Given the description of an element on the screen output the (x, y) to click on. 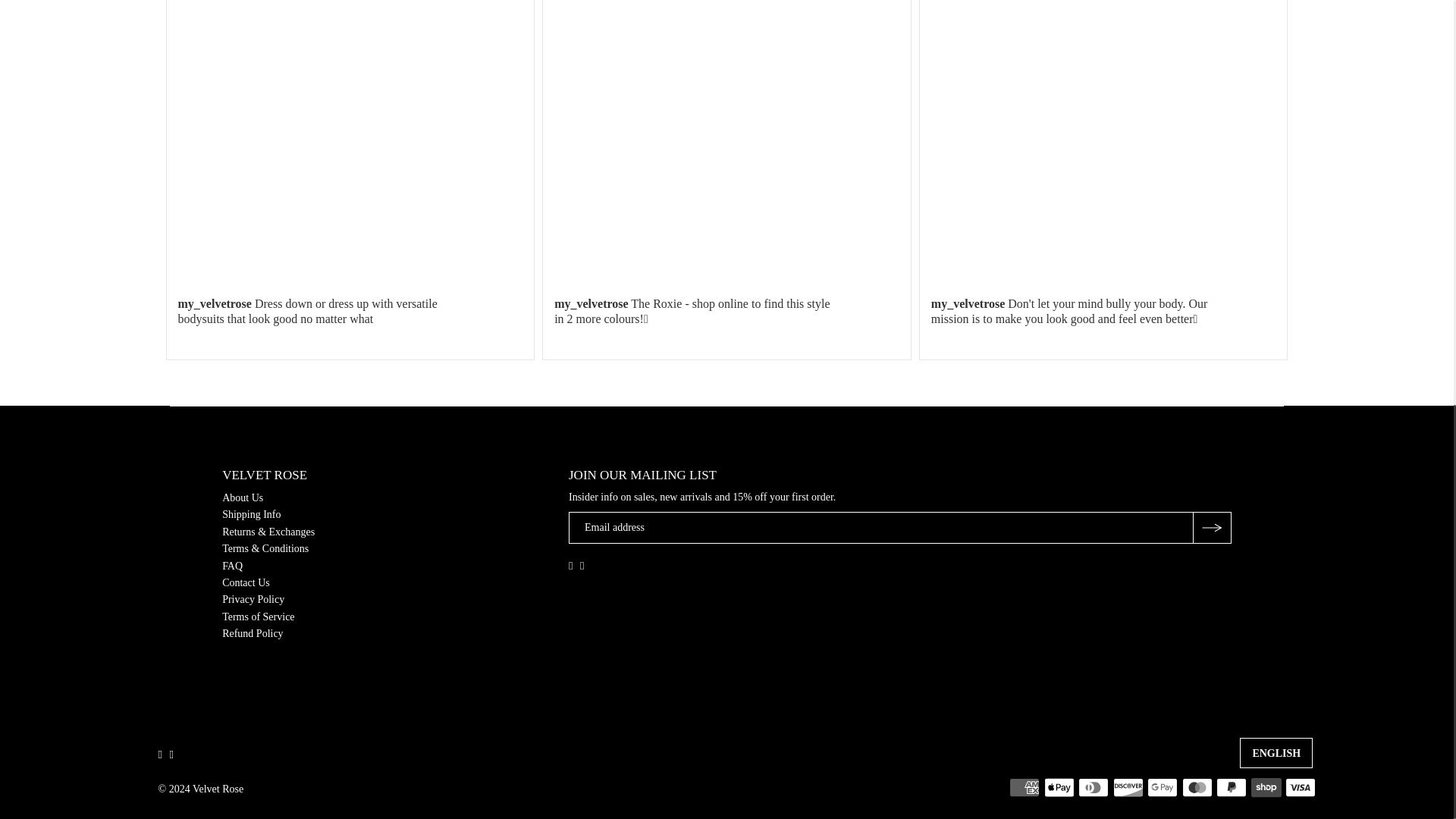
PayPal (1230, 787)
Diners Club (1093, 787)
American Express (1024, 787)
Apple Pay (1058, 787)
Google Pay (1162, 787)
Visa (1300, 787)
Mastercard (1197, 787)
Discover (1127, 787)
Shop Pay (1265, 787)
